Given the description of an element on the screen output the (x, y) to click on. 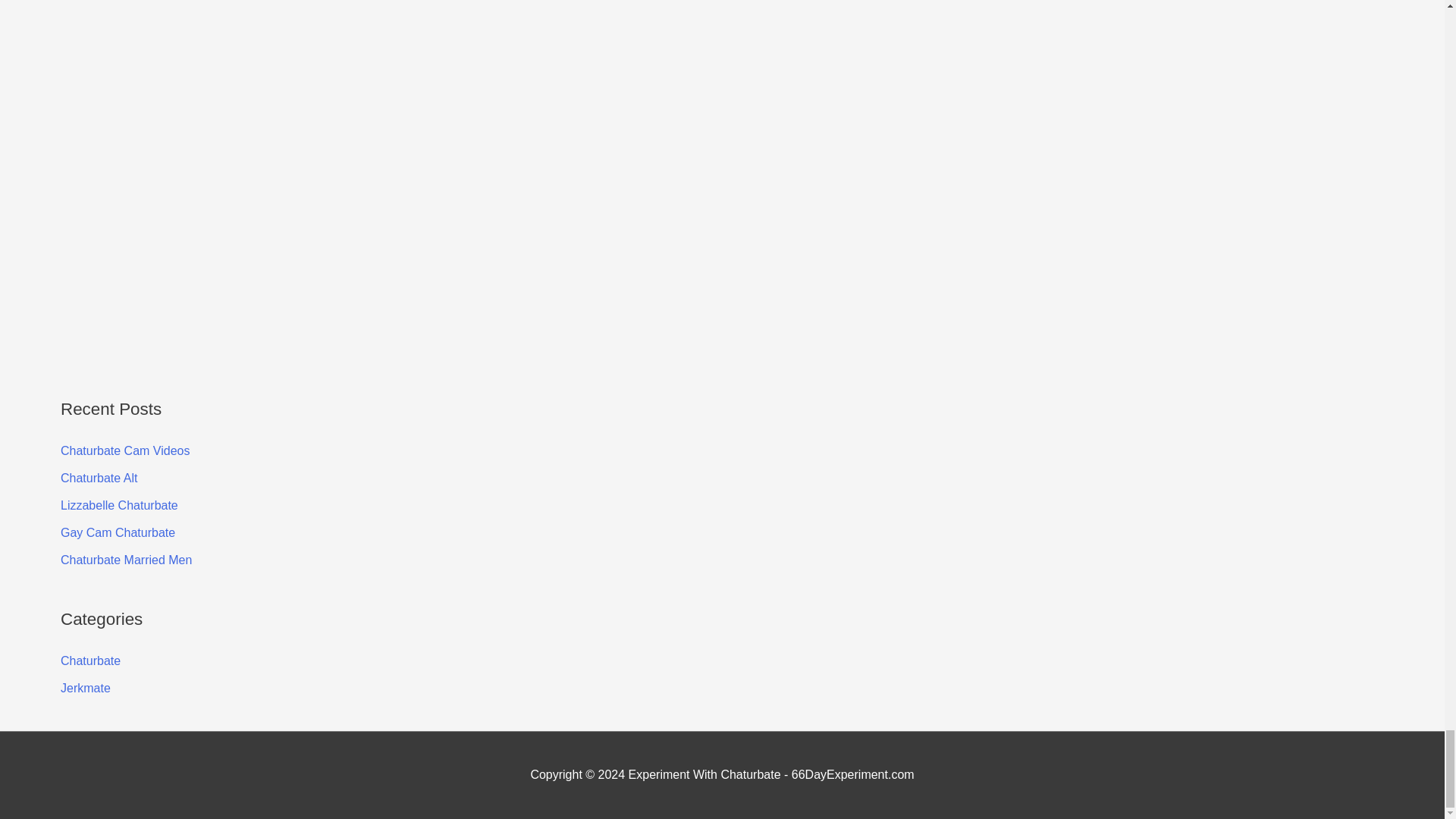
Chaturbate Married Men (126, 559)
Chaturbate Cam Videos (125, 450)
Lizzabelle Chaturbate (119, 504)
Jerkmate (85, 687)
Gay Cam Chaturbate (117, 532)
Chaturbate Alt (98, 477)
Chaturbate (90, 660)
